Given the description of an element on the screen output the (x, y) to click on. 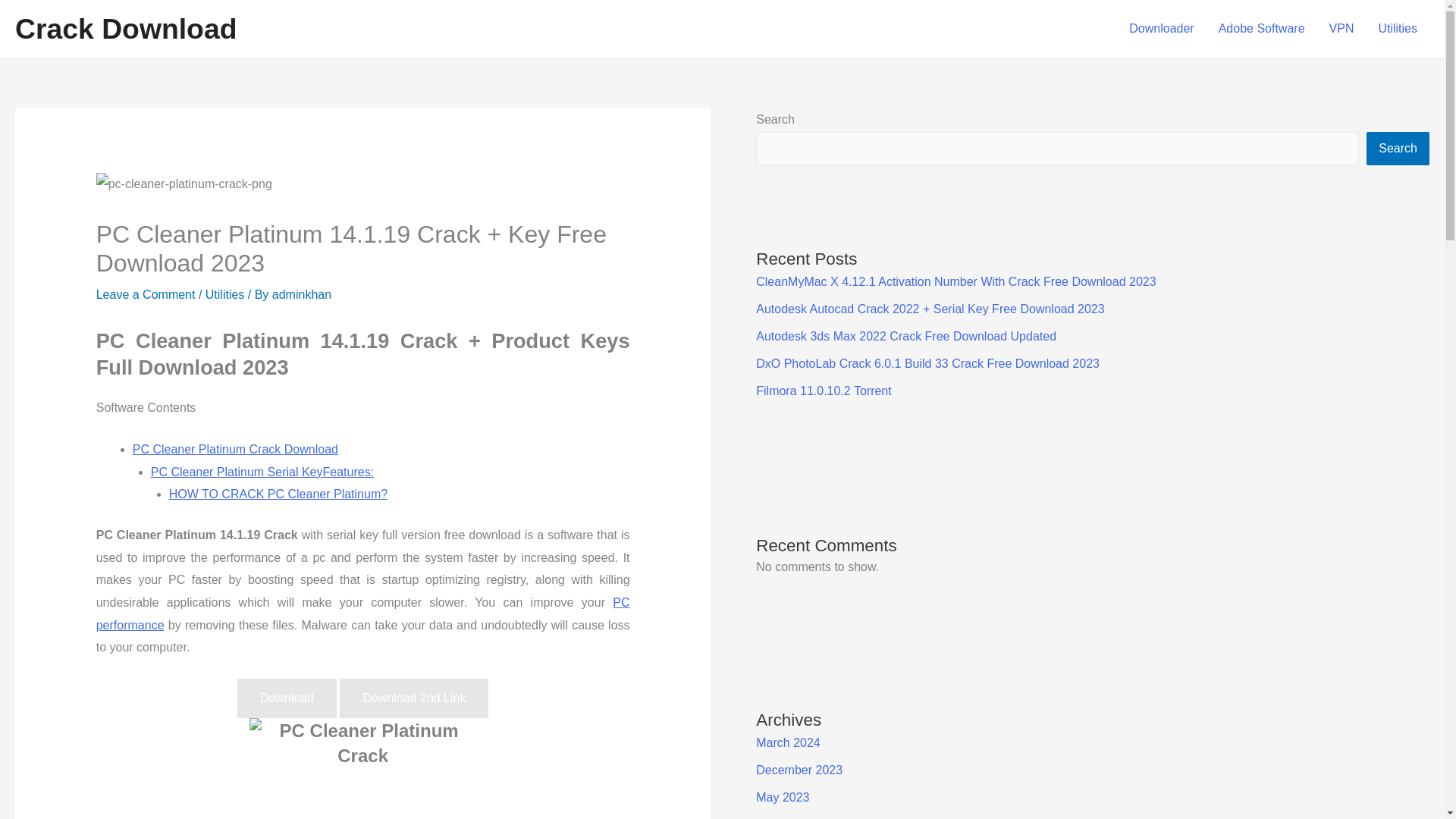
HOW TO CRACK PC Cleaner Platinum? (277, 493)
Adobe Software (1262, 28)
DxO PhotoLab Crack 6.0.1 Build 33 Crack Free Download 2023 (927, 363)
HOW TO CRACK PC Cleaner Platinum? (277, 493)
VPN (1342, 28)
Filmora 11.0.10.2 Torrent (823, 390)
View all posts by adminkhan (301, 294)
PC performance (363, 613)
Search (1398, 148)
Download 2nd Link (413, 698)
